Given the description of an element on the screen output the (x, y) to click on. 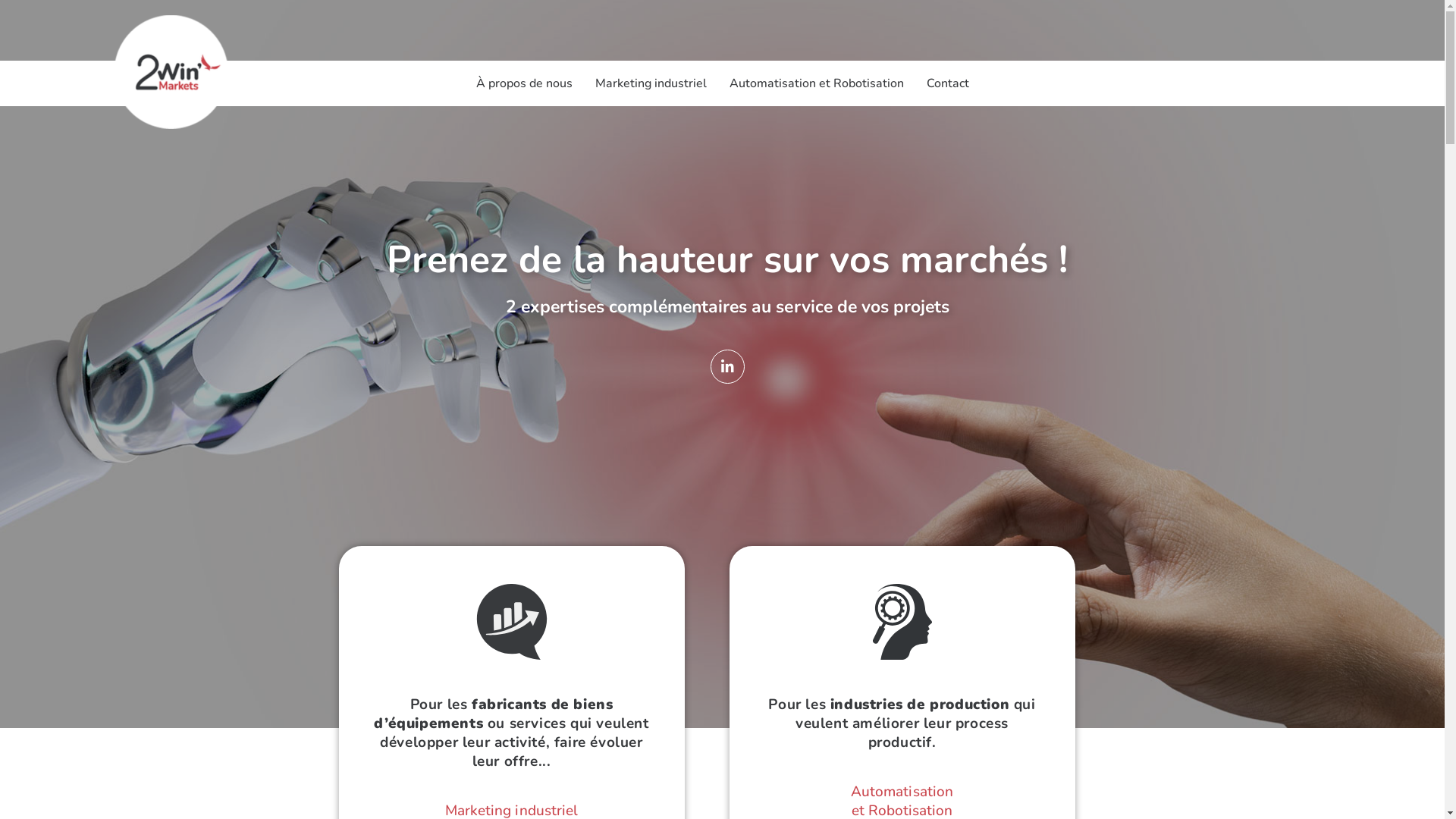
Contact Element type: text (946, 83)
Marketing industriel Element type: text (650, 83)
Automatisation et Robotisation Element type: text (815, 83)
